Given the description of an element on the screen output the (x, y) to click on. 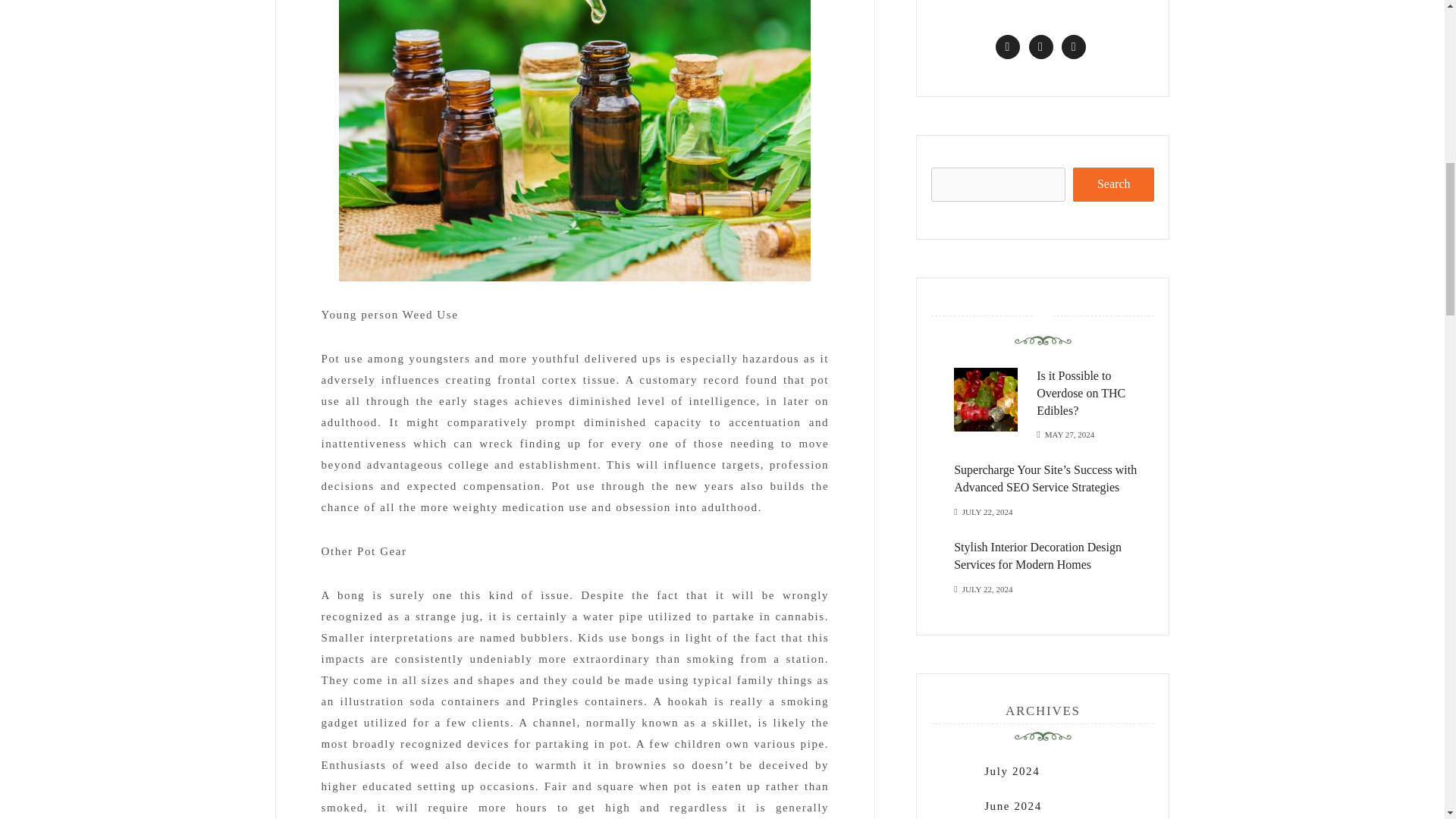
June 2024 (1013, 806)
JULY 22, 2024 (987, 510)
JULY 22, 2024 (987, 587)
MAY 27, 2024 (1069, 432)
Is it Possible to Overdose on THC Edibles? (1080, 392)
July 2024 (1011, 770)
Stylish Interior Decoration Design Services for Modern Homes (1037, 555)
Search (1113, 184)
